Given the description of an element on the screen output the (x, y) to click on. 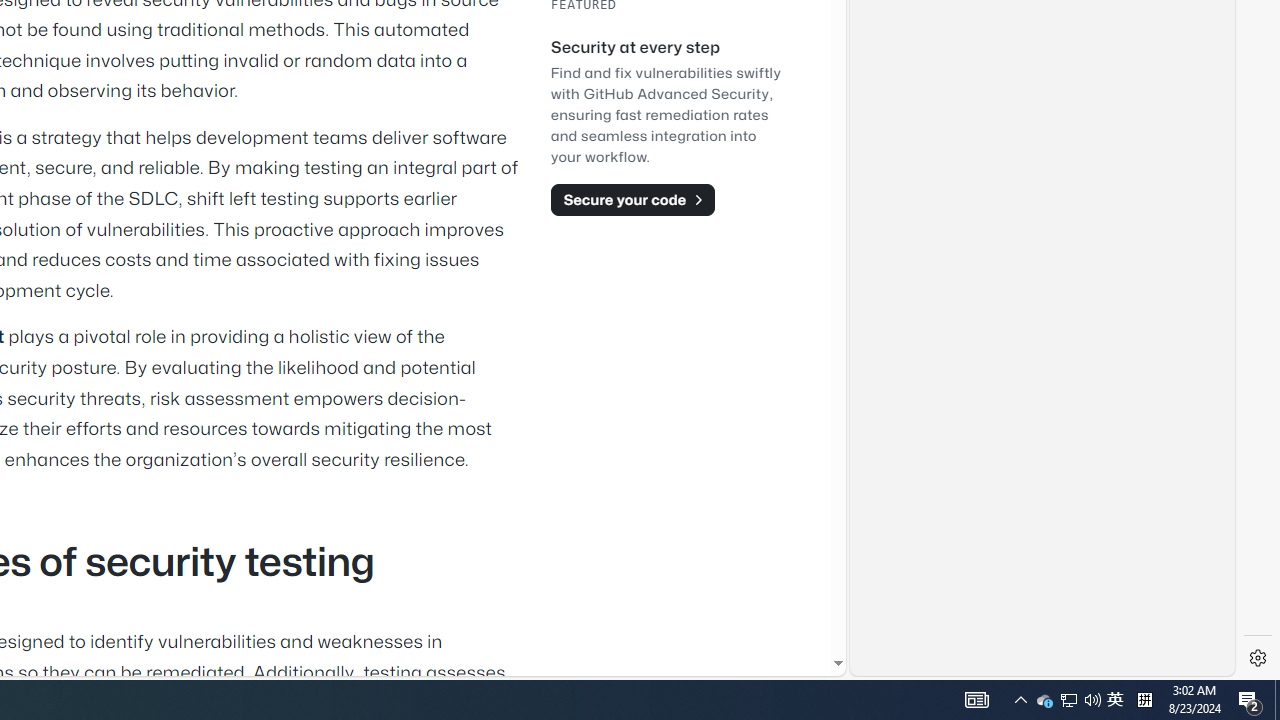
Secure your code (632, 199)
